Given the description of an element on the screen output the (x, y) to click on. 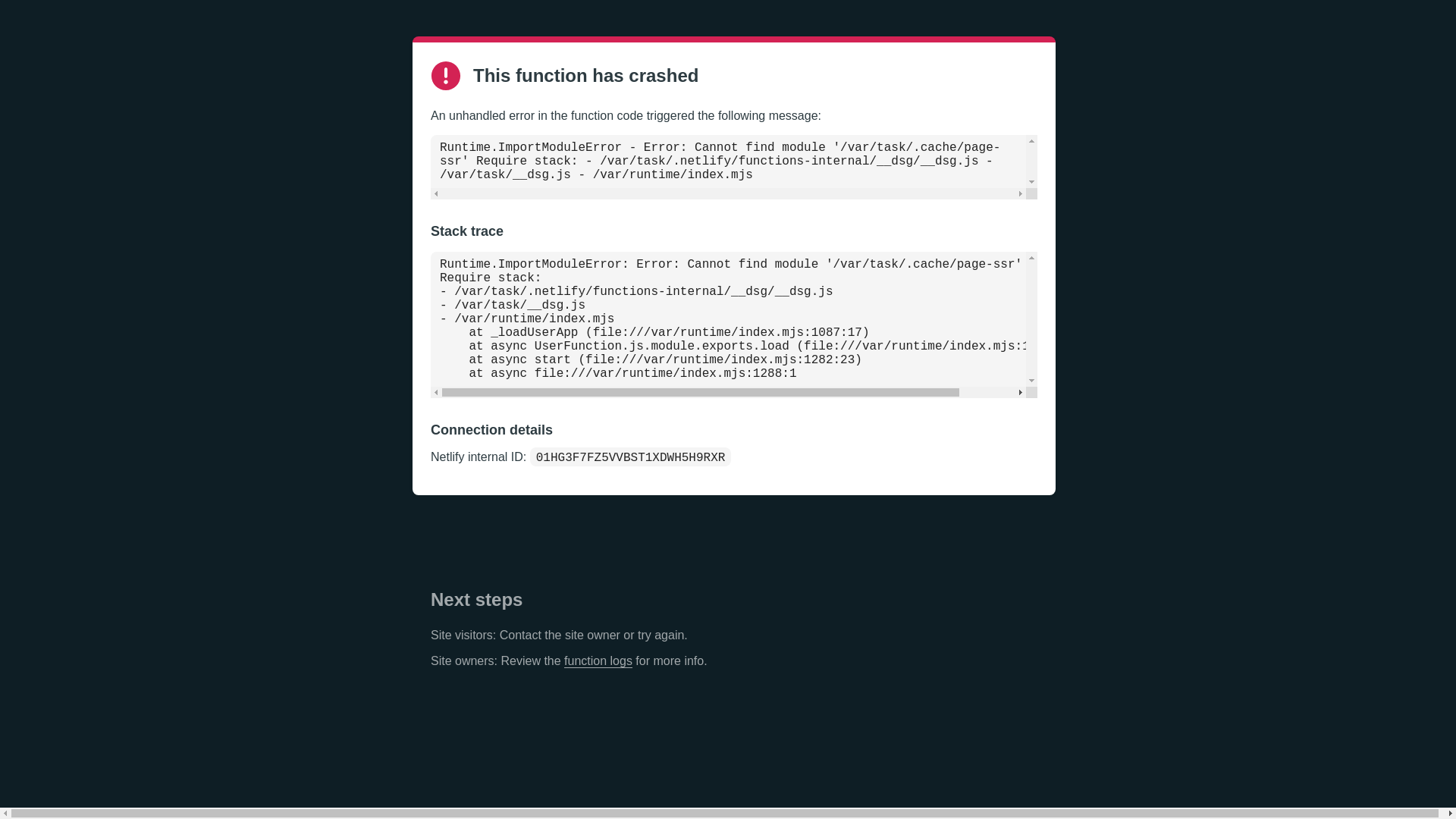
function logs Element type: text (598, 661)
